Given the description of an element on the screen output the (x, y) to click on. 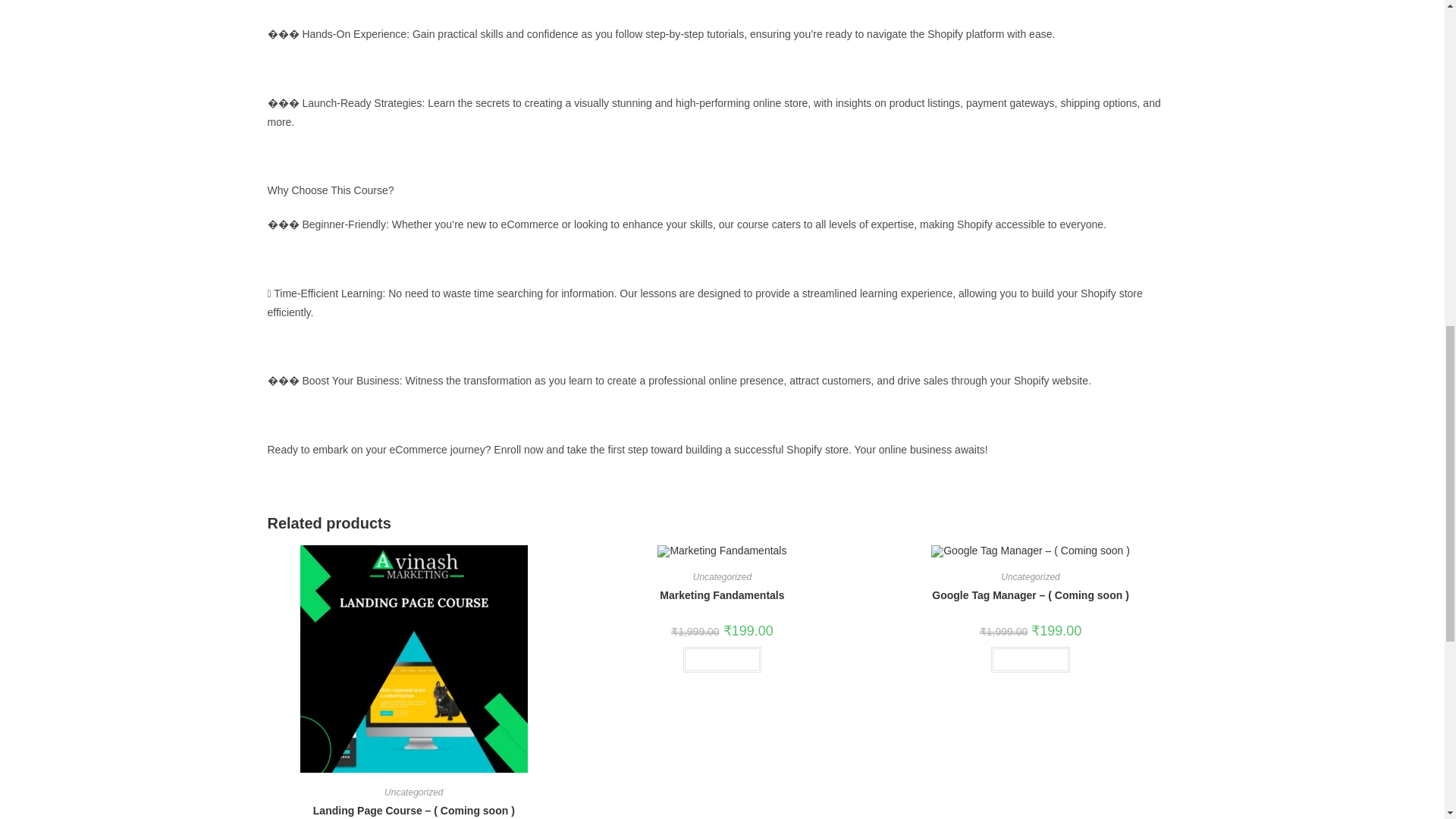
Marketing Fandamentals (721, 595)
Enroll now (721, 659)
Uncategorized (413, 792)
Uncategorized (722, 576)
